Given the description of an element on the screen output the (x, y) to click on. 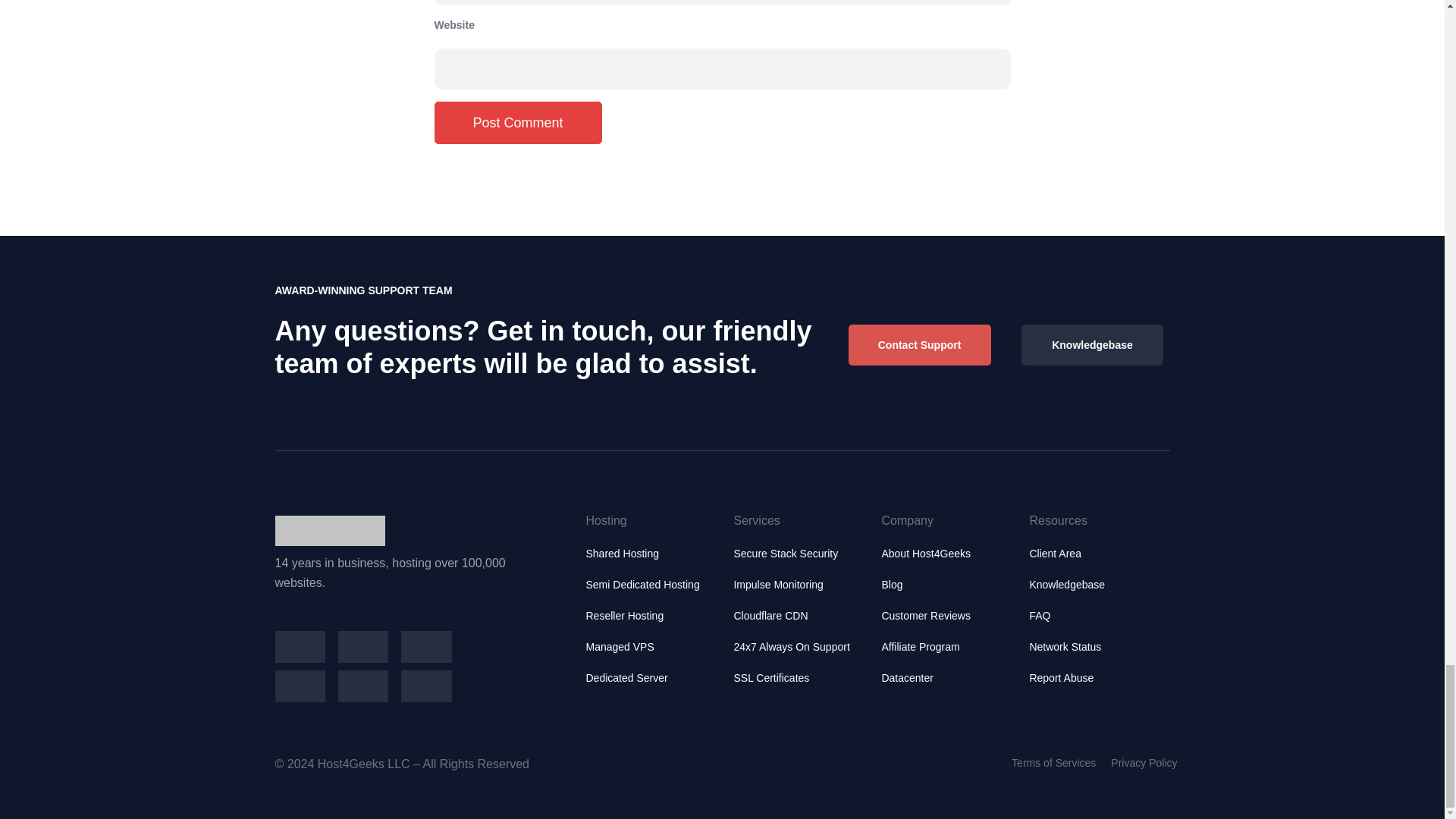
logo new white (329, 530)
Post Comment (517, 122)
Post Comment (517, 122)
Contact Support (919, 344)
Knowledgebase (1092, 344)
